Given the description of an element on the screen output the (x, y) to click on. 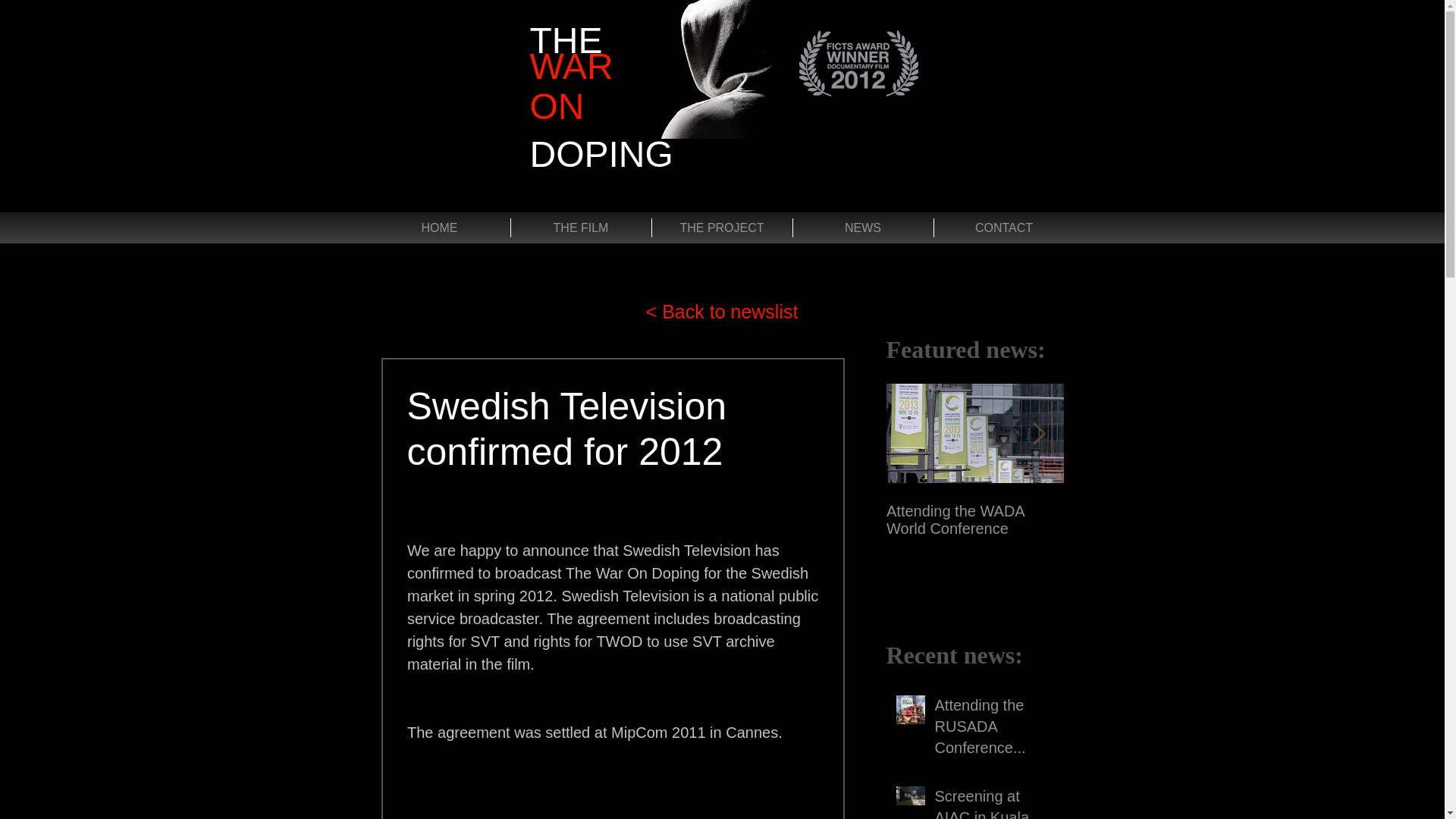
THE PROJECT (722, 227)
CONTACT (1004, 227)
THE FILM (580, 227)
Screening and panel at Pepperdine University, Los Angeles (1151, 528)
Screening at AIAC in Kuala Lumpur (988, 802)
Attending the WADA World Conference (973, 519)
HOME (438, 227)
Attending the RUSADA Conference... (988, 729)
NEWS (863, 227)
